Given the description of an element on the screen output the (x, y) to click on. 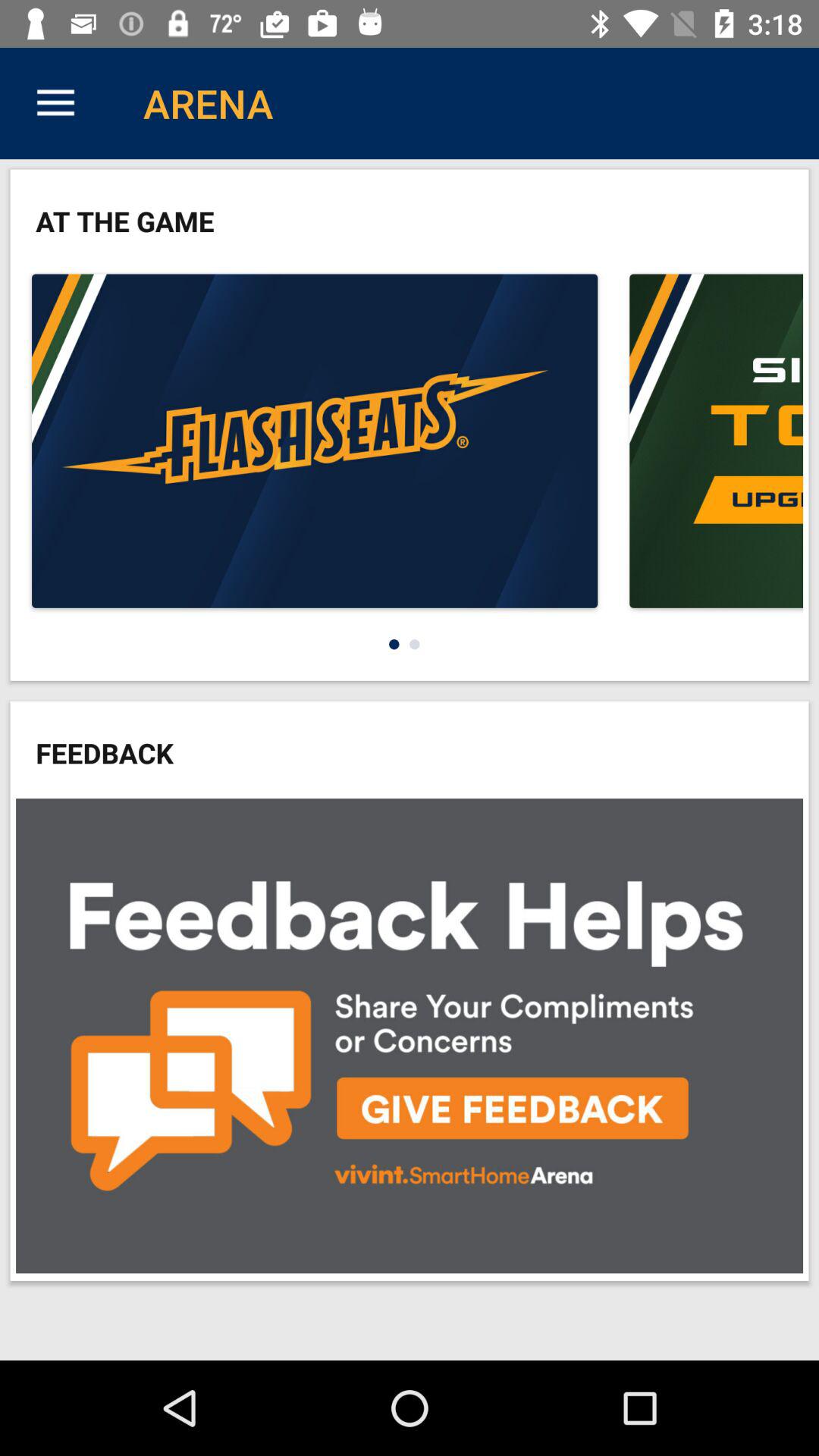
press the icon to the left of the arena item (55, 103)
